Given the description of an element on the screen output the (x, y) to click on. 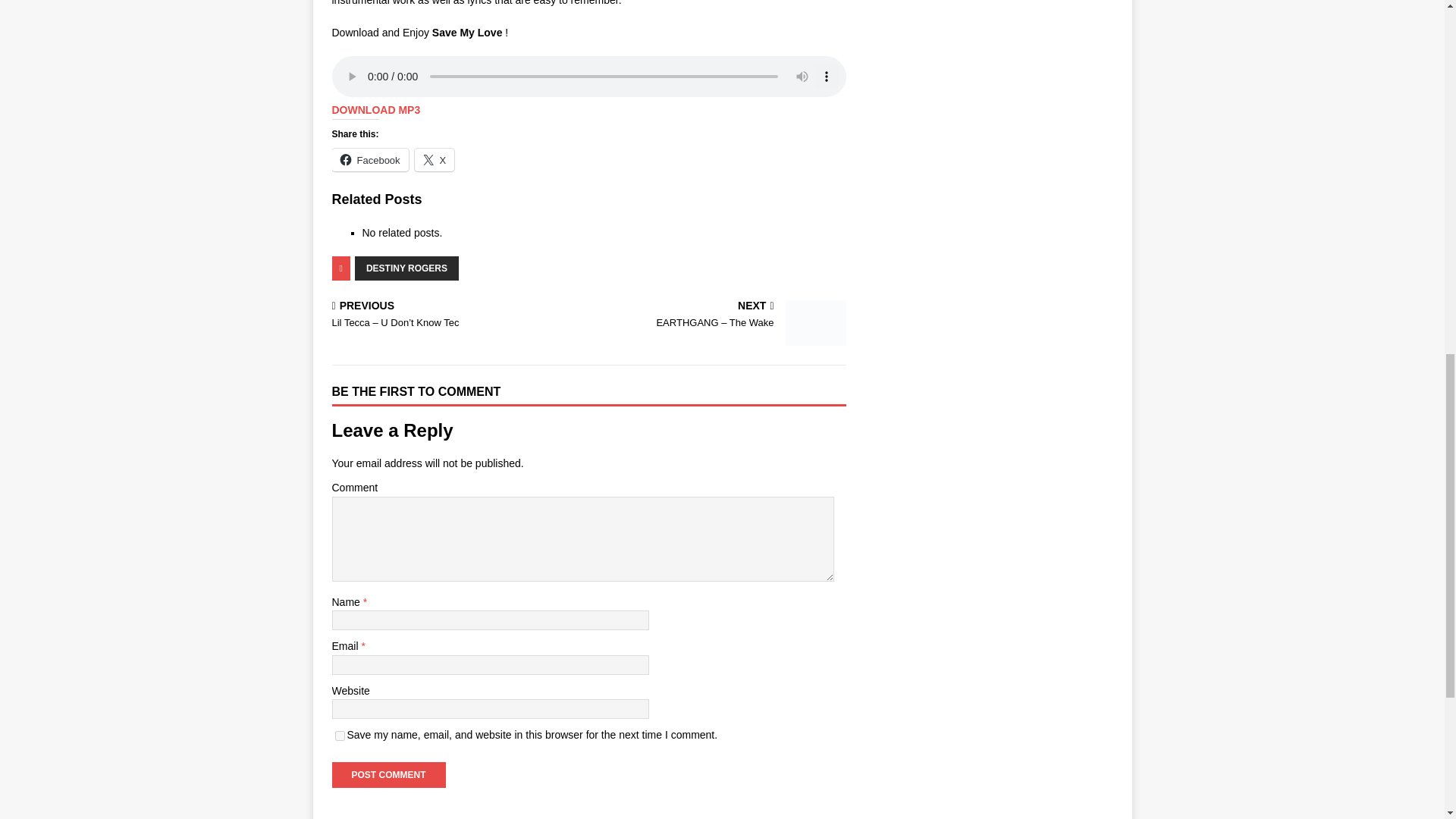
Click to share on X (434, 159)
DESTINY ROGERS (406, 268)
Post Comment (388, 774)
X (434, 159)
Click to share on Facebook (370, 159)
Facebook (370, 159)
DOWNLOAD MP3 (375, 110)
yes (339, 736)
Post Comment (388, 774)
